Given the description of an element on the screen output the (x, y) to click on. 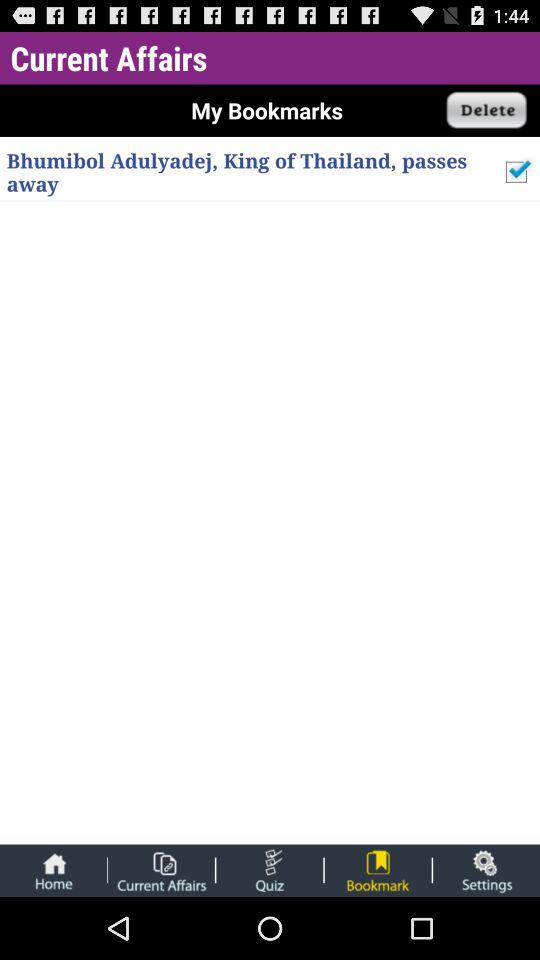
open settings option (486, 870)
